Given the description of an element on the screen output the (x, y) to click on. 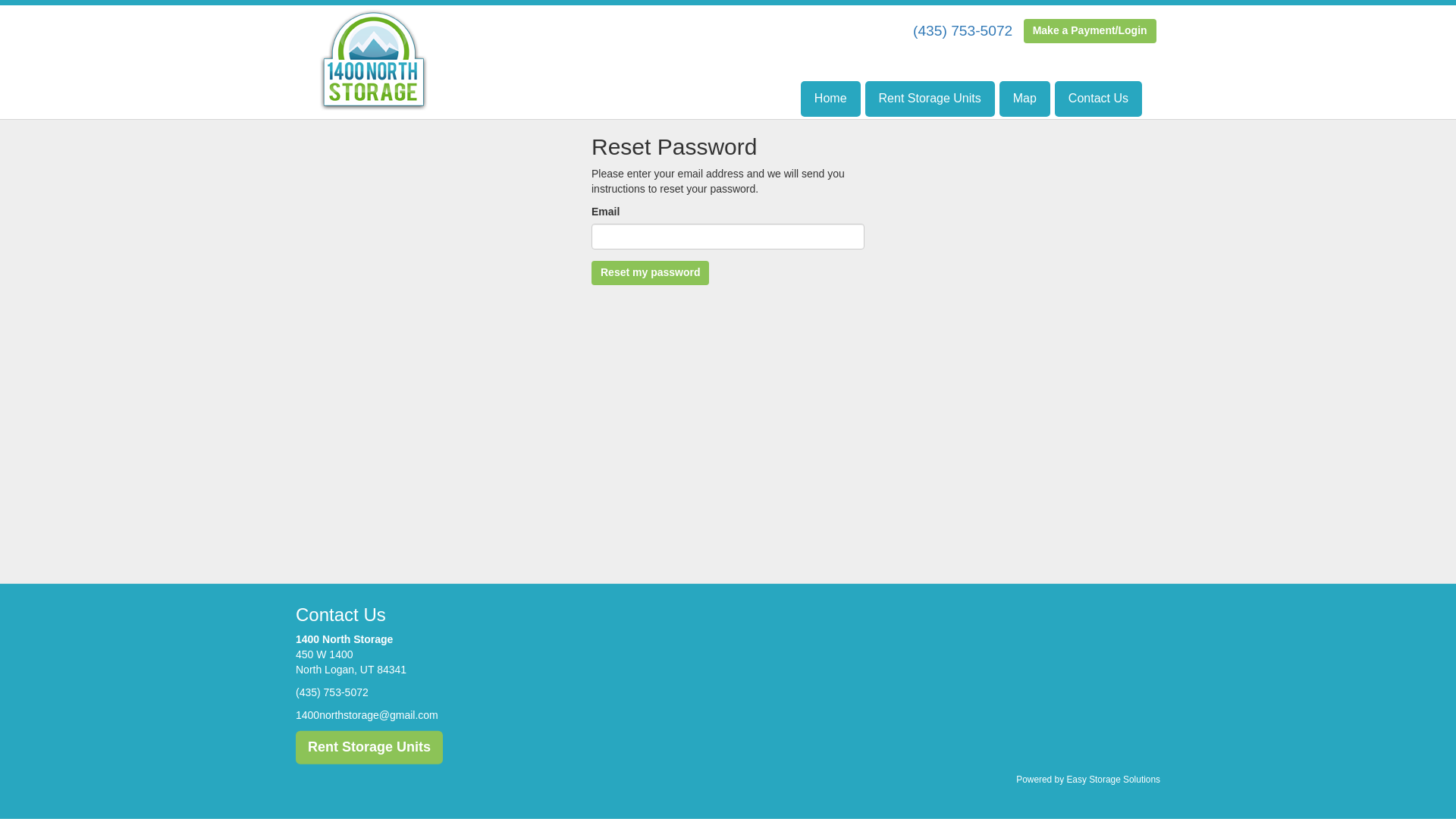
Easy Storage Solutions Element type: text (1113, 779)
Map Element type: text (1024, 98)
Rent Storage Units Element type: text (368, 747)
Contact Us Element type: text (1098, 98)
(435) 753-5072 Element type: text (962, 30)
Rent Storage Units Element type: text (929, 98)
Home Element type: text (830, 98)
(435) 753-5072 Element type: text (331, 692)
Make a Payment/Login Element type: text (1089, 30)
Reset my password Element type: text (650, 272)
1400northstorage@gmail.com Element type: text (366, 715)
